Given the description of an element on the screen output the (x, y) to click on. 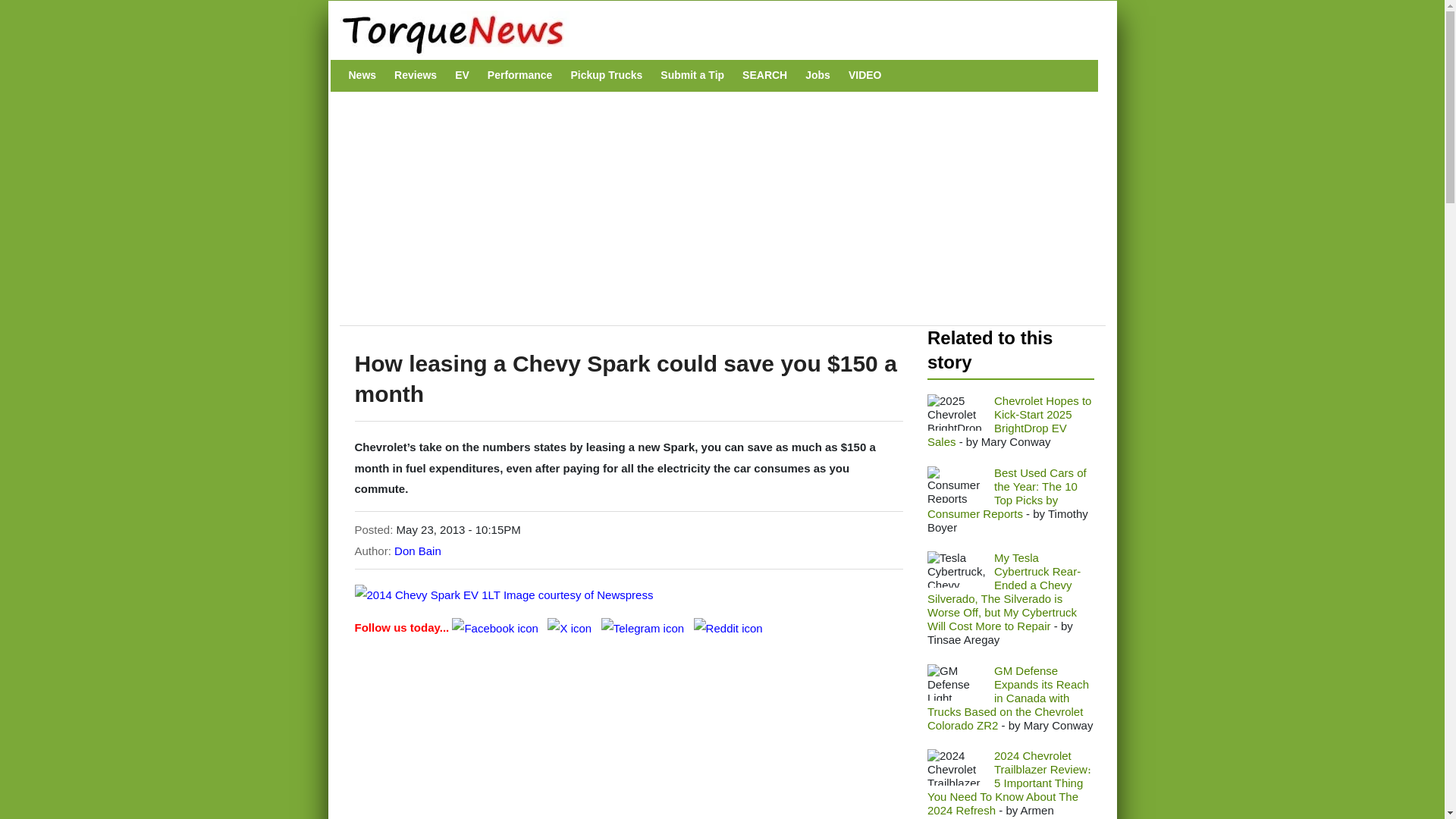
Performance (520, 75)
Join us on Reddit! (728, 626)
Jobs (817, 75)
Submit a Tip (691, 75)
SEARCH (764, 75)
Reviews (415, 75)
VIDEO (865, 75)
News (362, 75)
Automotive journalism jobs and careers are TorqueNews.com. (817, 75)
